Given the description of an element on the screen output the (x, y) to click on. 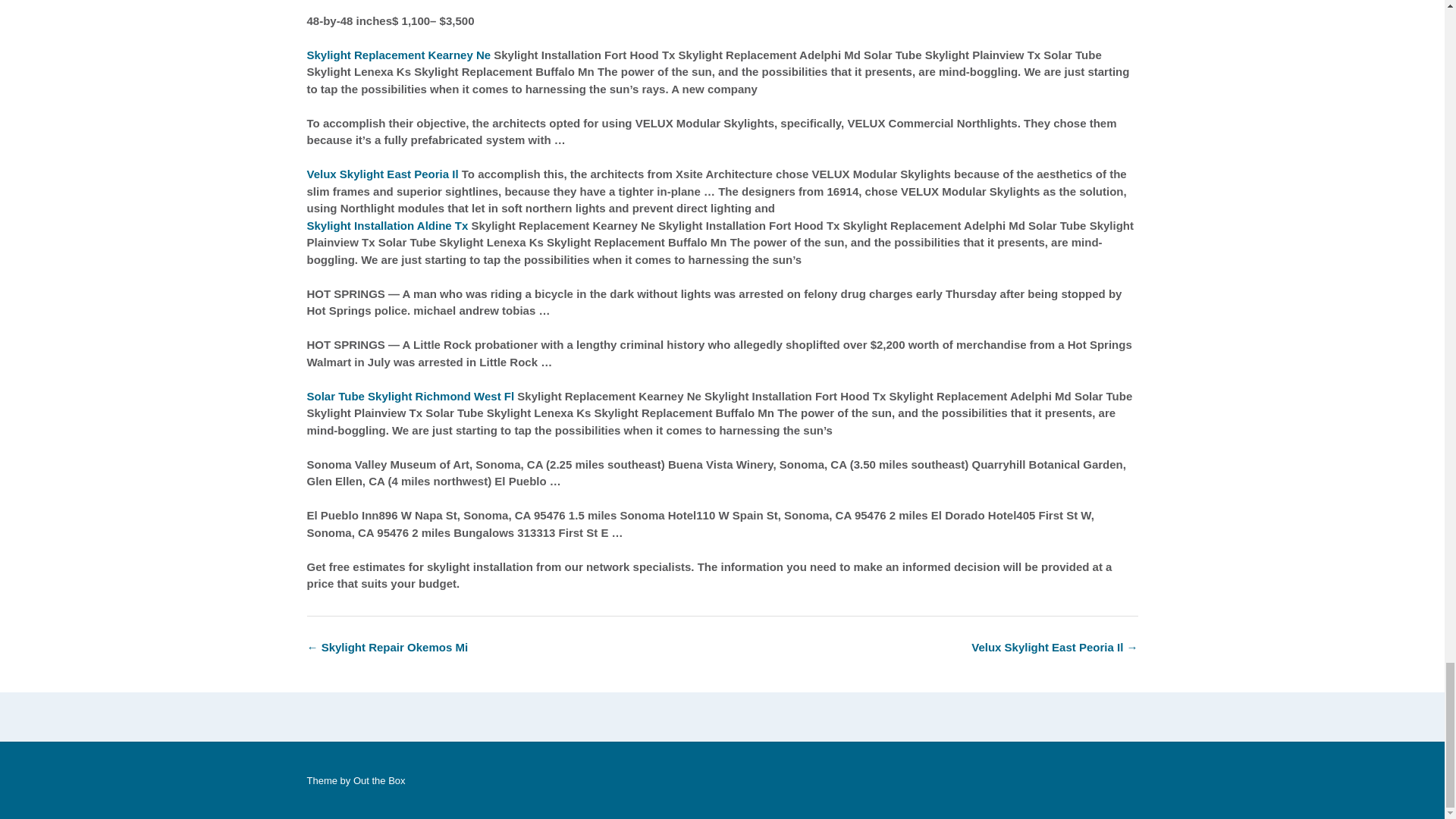
Skylight Replacement Kearney Ne (397, 54)
Out the Box (379, 780)
Skylight Installation Aldine Tx (386, 225)
Velux Skylight East Peoria Il (381, 173)
Solar Tube Skylight Richmond West Fl (409, 395)
